Given the description of an element on the screen output the (x, y) to click on. 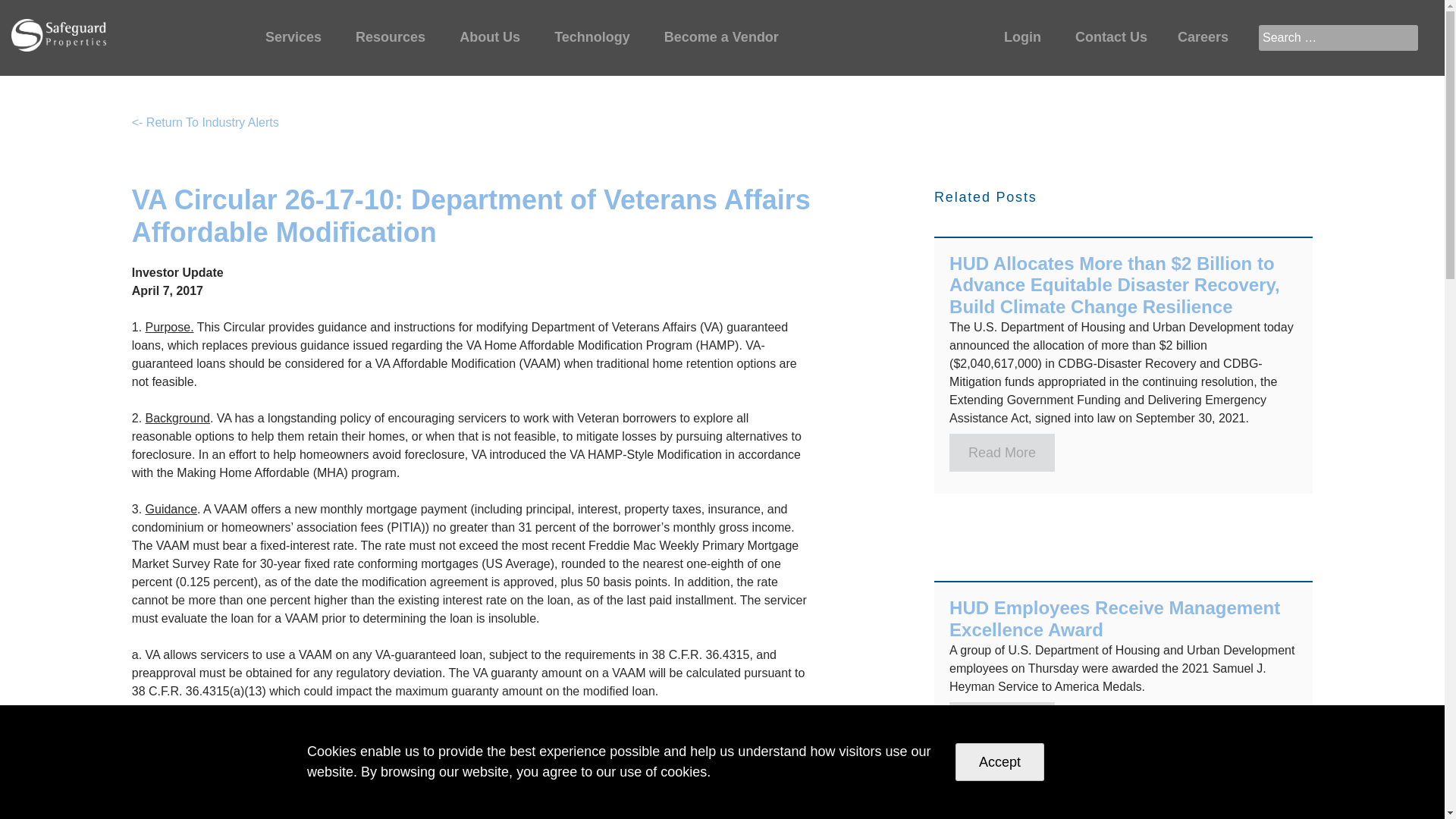
Resources (392, 38)
Services (295, 38)
